Given the description of an element on the screen output the (x, y) to click on. 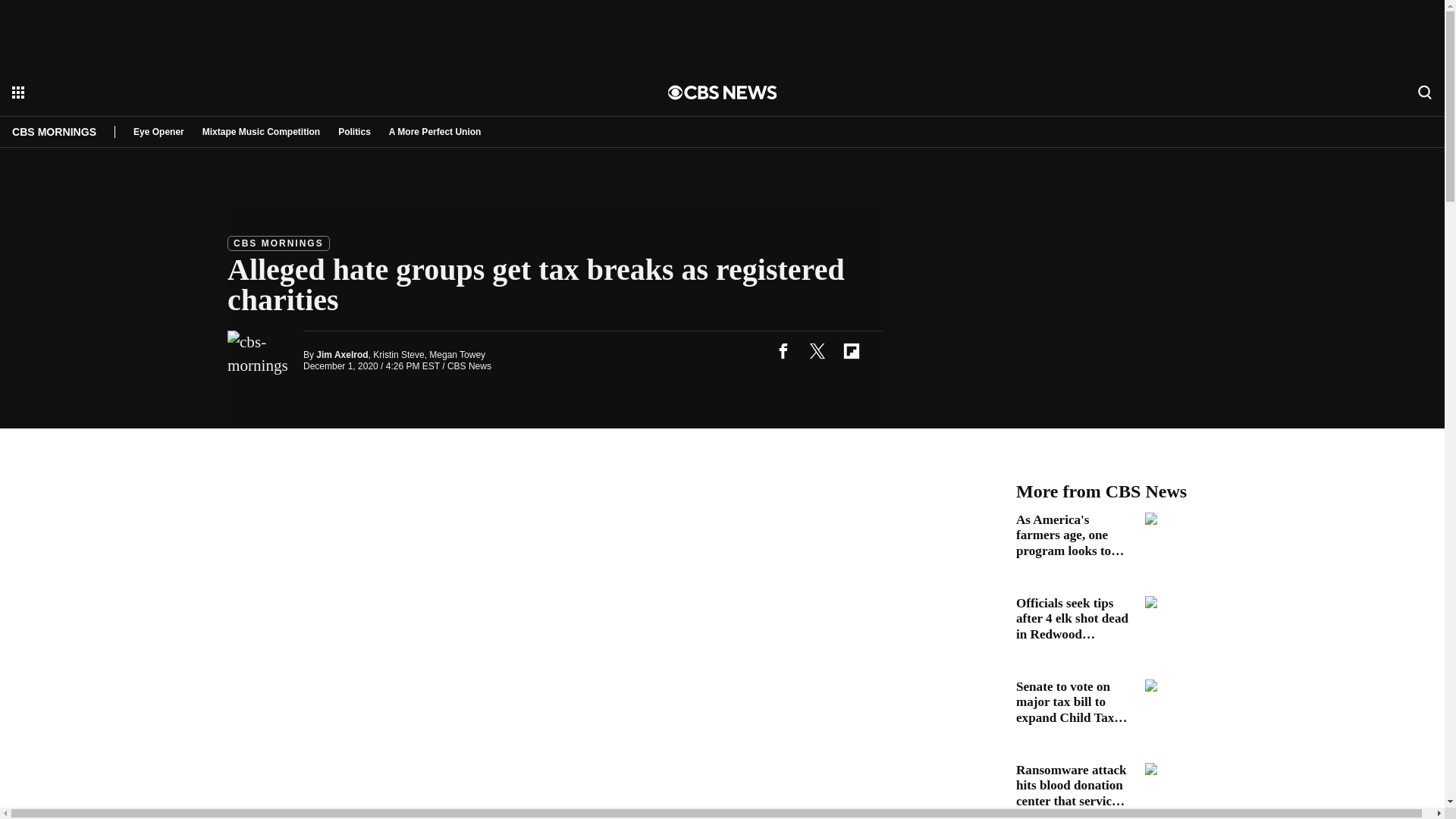
flipboard (850, 350)
facebook (782, 350)
twitter (816, 350)
